Given the description of an element on the screen output the (x, y) to click on. 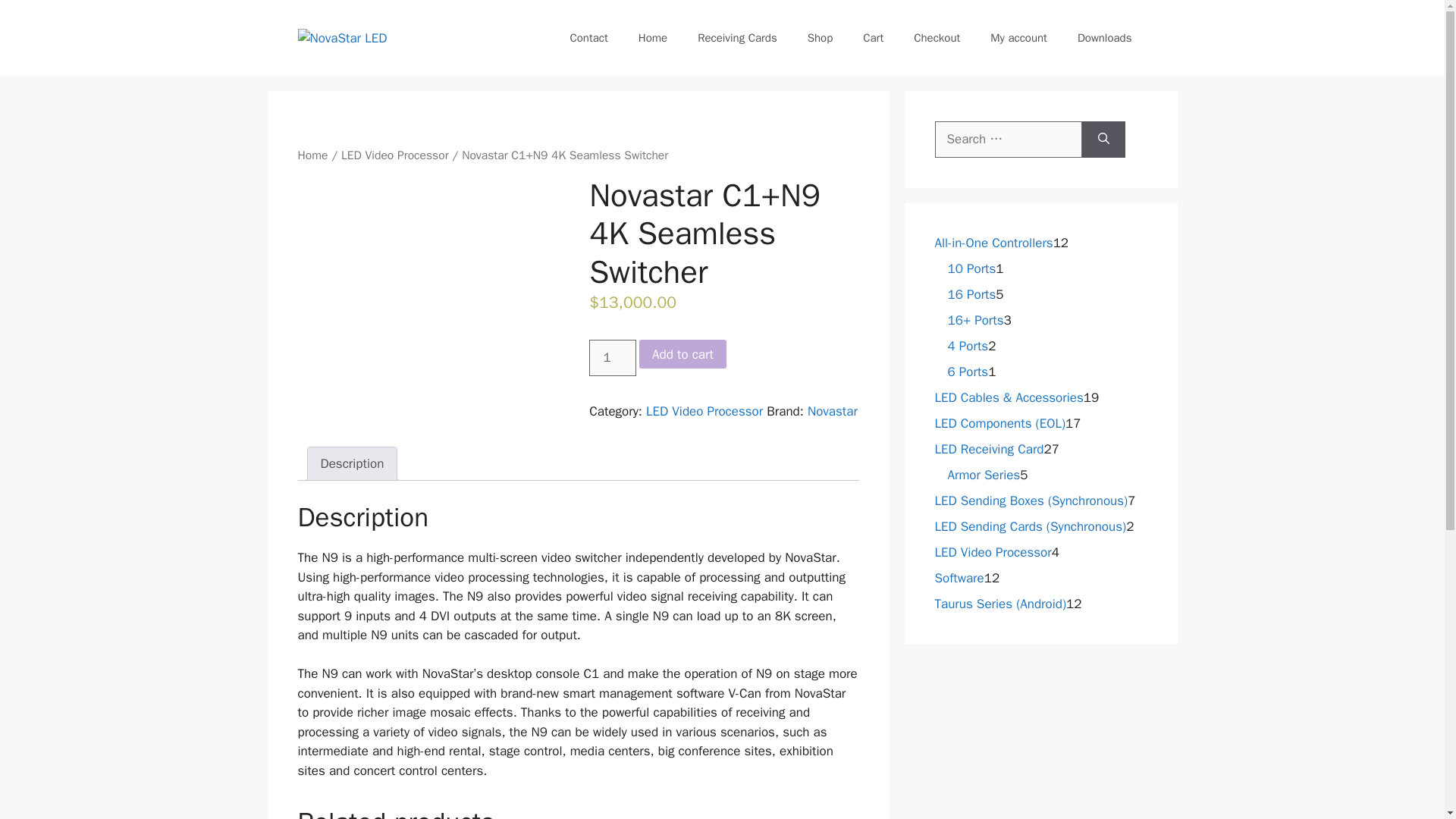
Downloads (1104, 37)
LED Video Processor (394, 155)
10 Ports (971, 268)
All-in-One Controllers (993, 242)
My account (1018, 37)
1 (612, 357)
LED Video Processor (704, 411)
Checkout (936, 37)
Contact (588, 37)
6 Ports (967, 371)
